Given the description of an element on the screen output the (x, y) to click on. 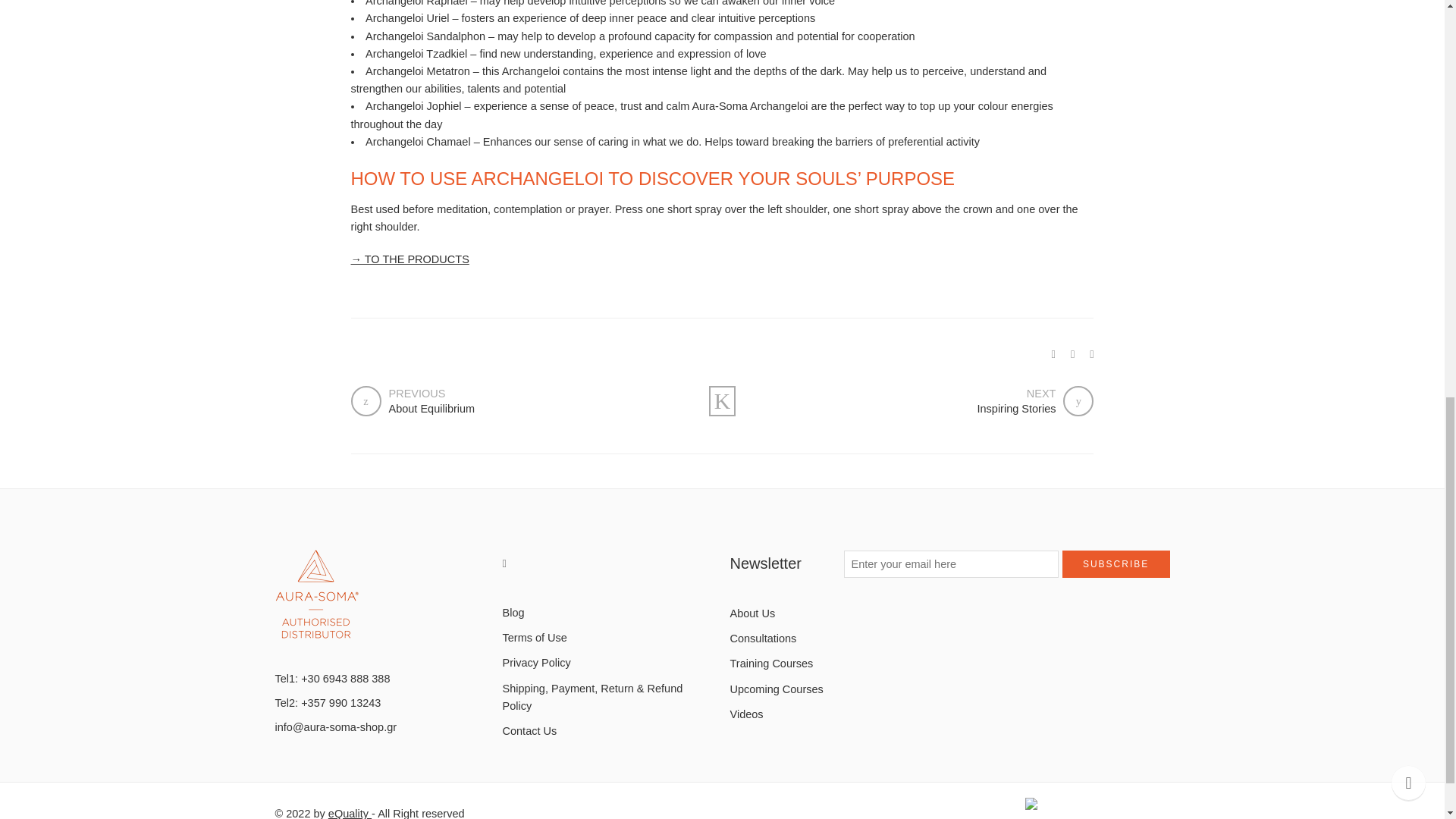
SUBSCRIBE (1116, 564)
Blog (608, 612)
Terms of Use (608, 637)
Training Courses (816, 663)
About Us (816, 613)
SUBSCRIBE (1116, 564)
Privacy Policy (608, 662)
Contact Us (517, 400)
